Given the description of an element on the screen output the (x, y) to click on. 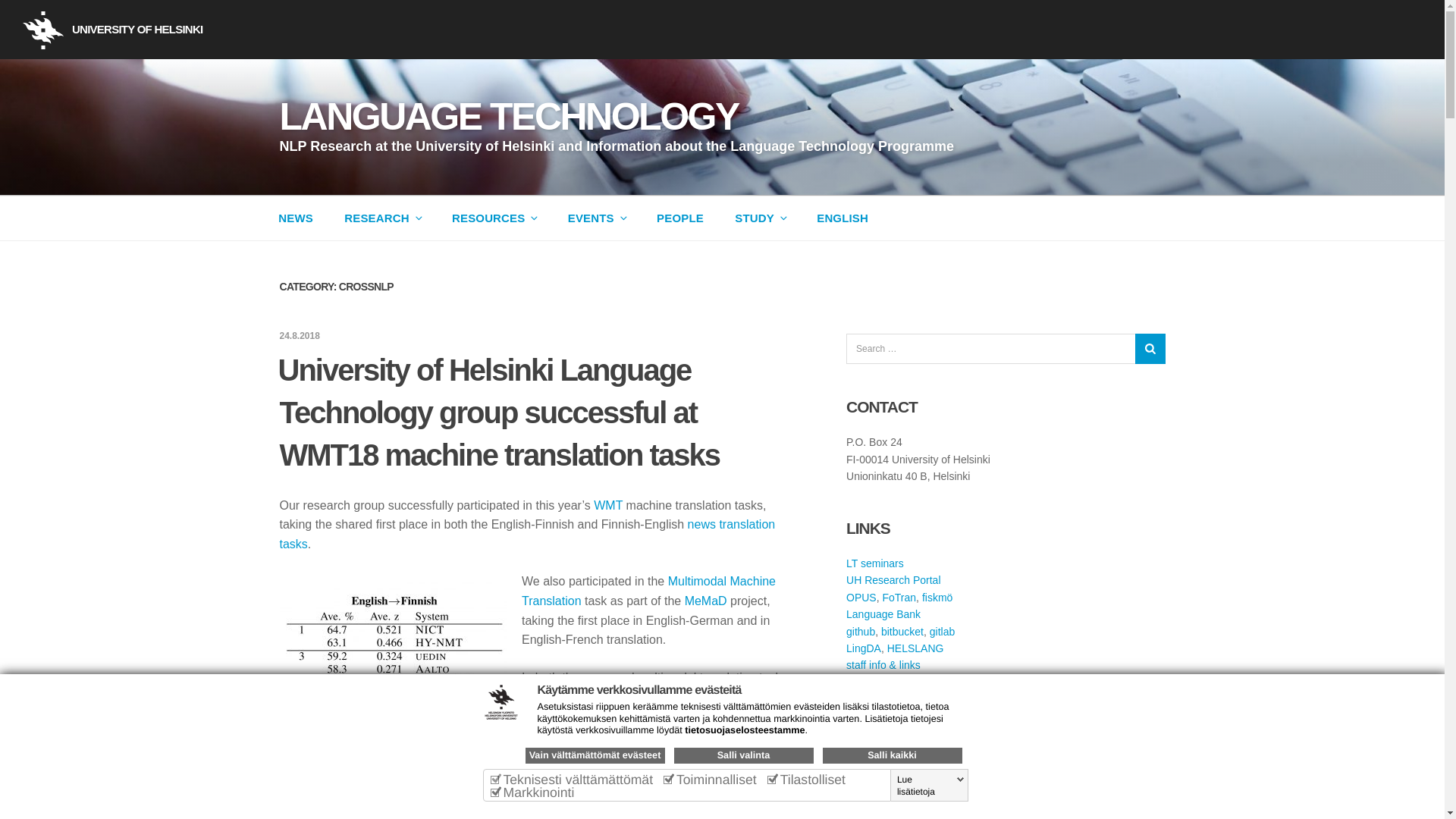
Salli kaikki (891, 755)
tietosuojaselosteestamme (744, 729)
Salli valinta (742, 755)
